Given the description of an element on the screen output the (x, y) to click on. 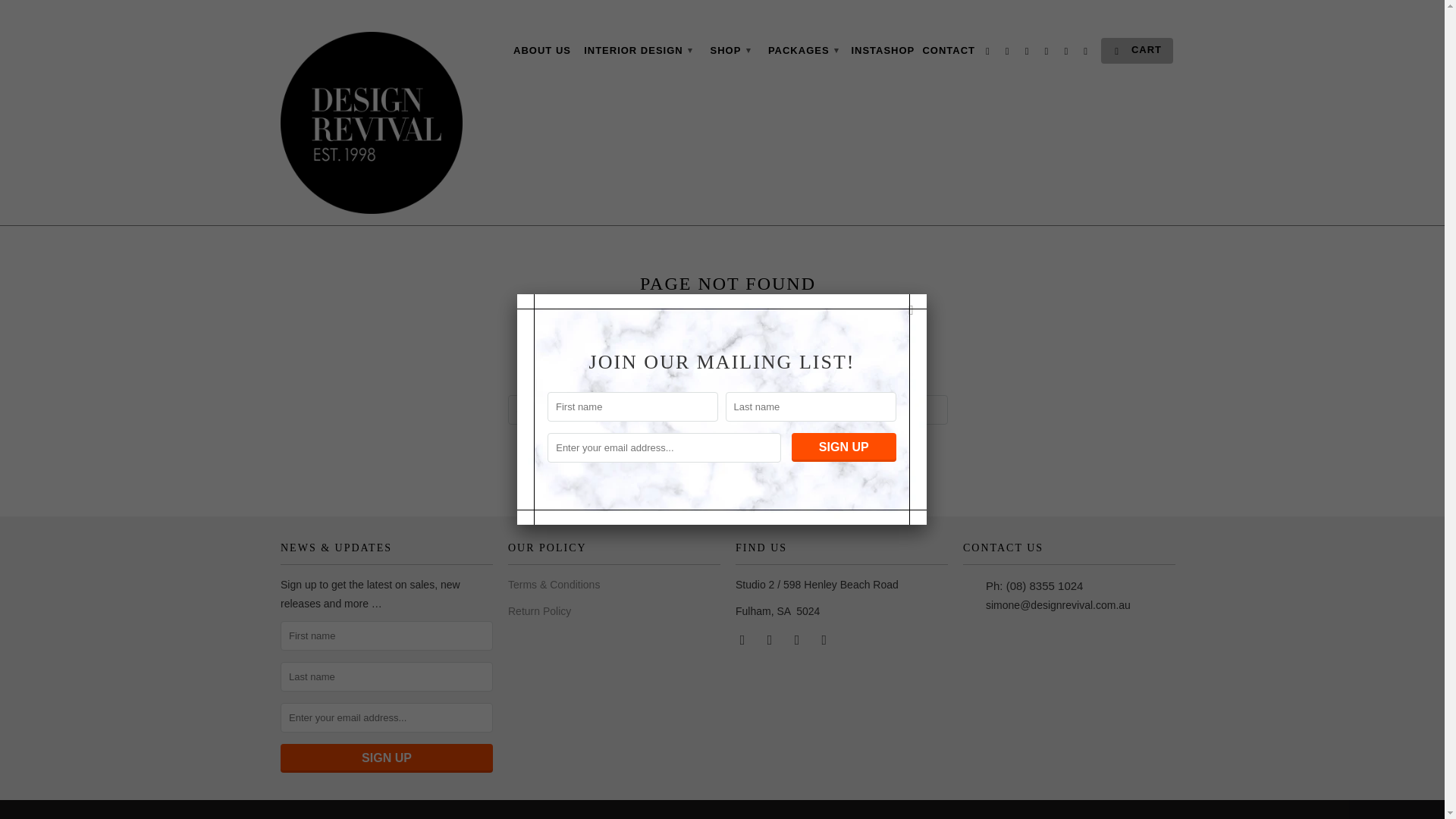
Design Revival Online on Instagram (770, 639)
Sign Up (387, 758)
Design Revival Online (372, 122)
Email Design Revival Online (825, 639)
Close (911, 309)
Design Revival Online on Houzz (798, 639)
Return Policy (539, 611)
Sign Up (844, 447)
ABOUT US (541, 53)
Design Revival Online on Facebook (743, 639)
